Given the description of an element on the screen output the (x, y) to click on. 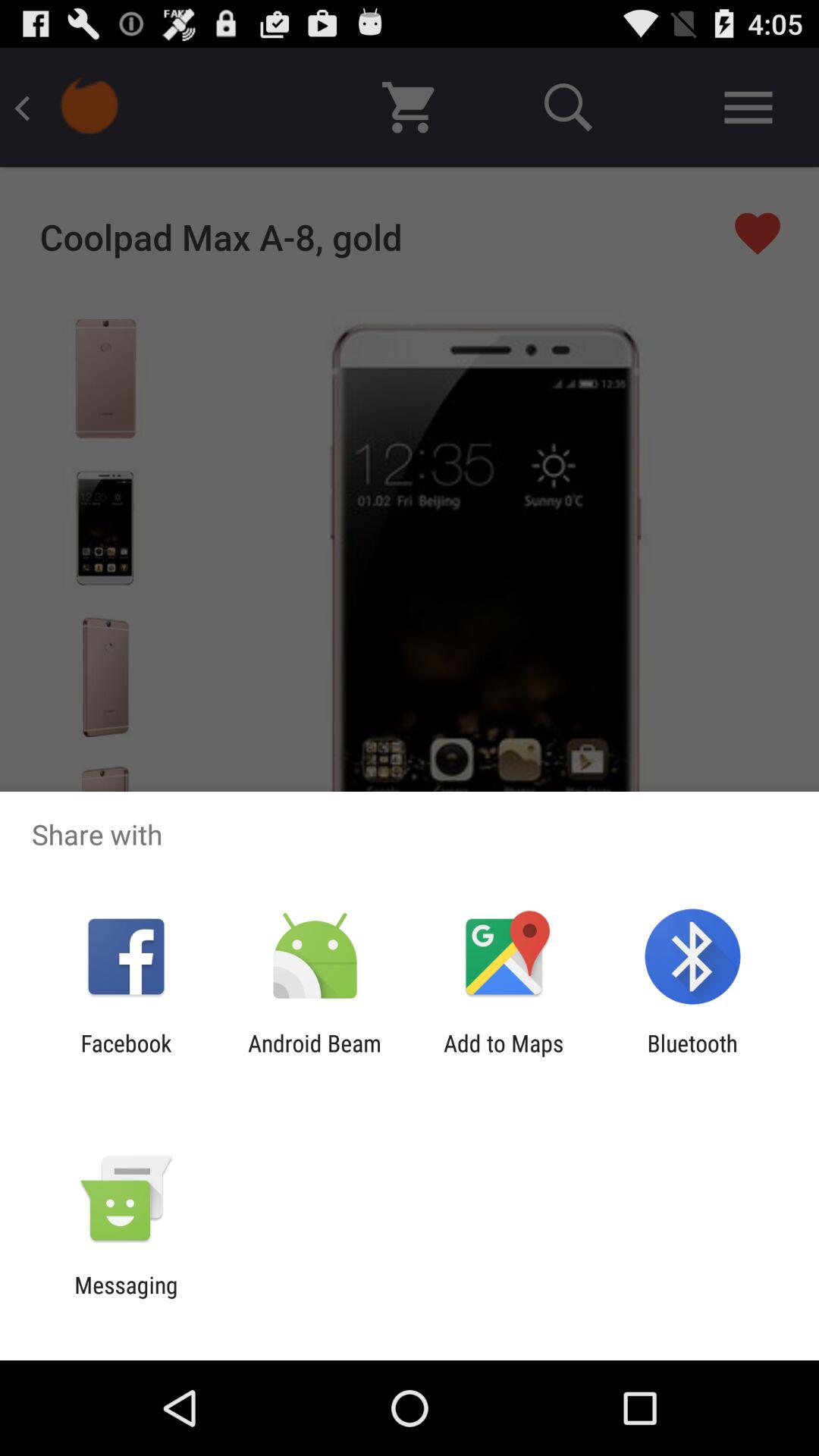
open icon to the left of the bluetooth item (503, 1056)
